Given the description of an element on the screen output the (x, y) to click on. 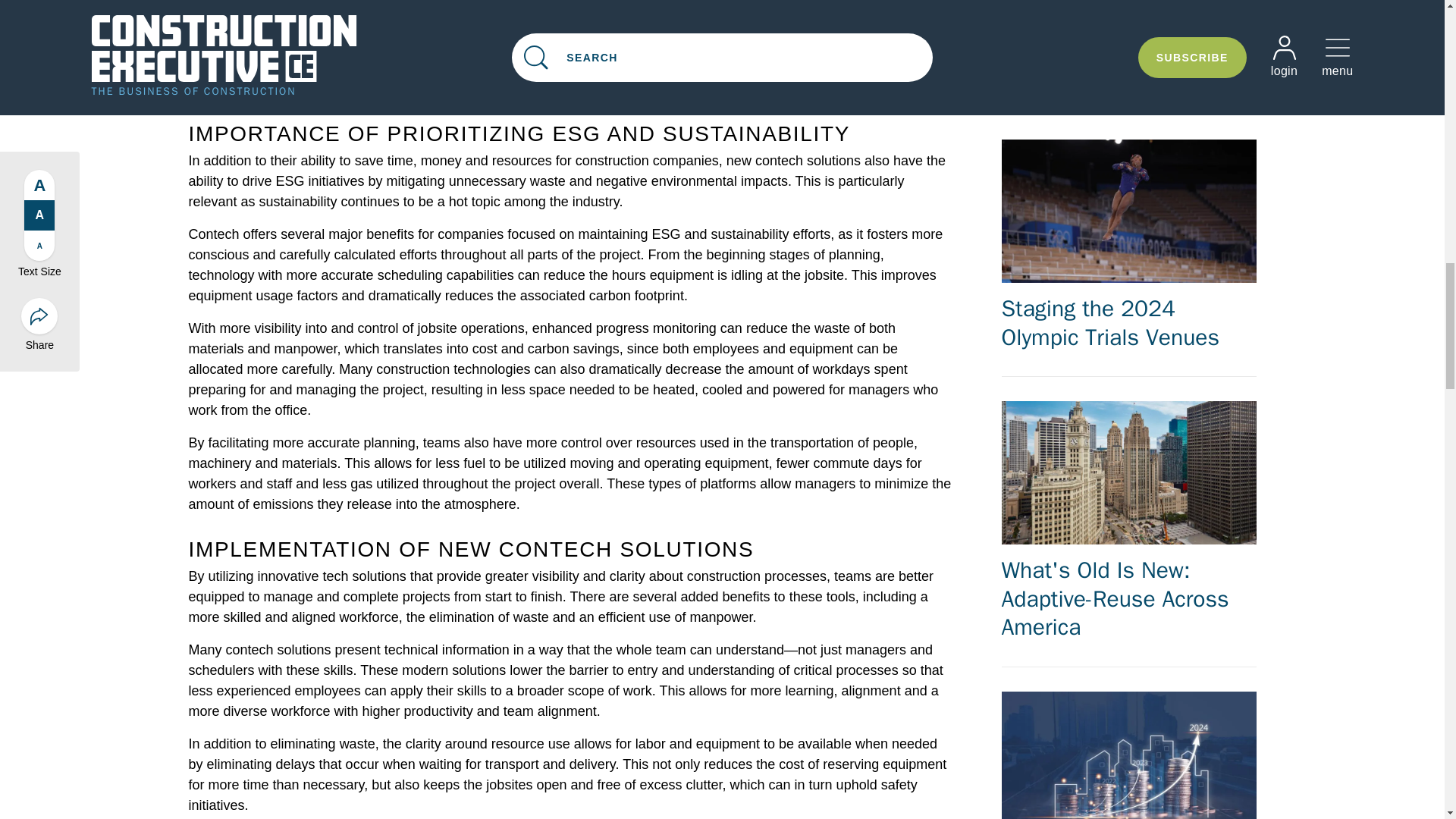
Staging the 2024 Olympic Trials Venues (1128, 245)
